Given the description of an element on the screen output the (x, y) to click on. 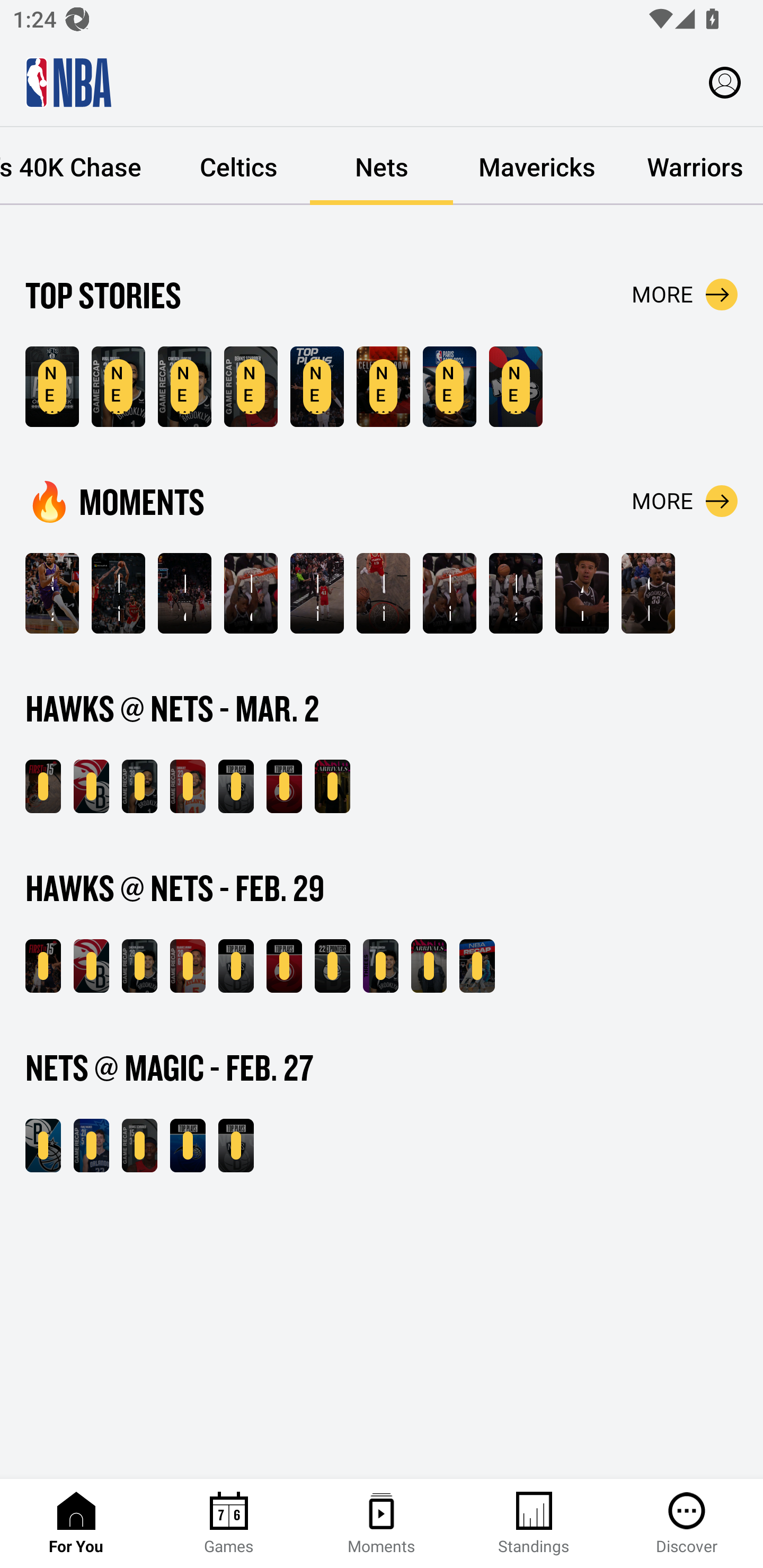
Profile (724, 81)
LeBron’s 40K Chase (83, 166)
Celtics (238, 166)
Mavericks (537, 166)
Warriors (692, 166)
MORE (684, 294)
NEW BKN's Top Plays of Week 19 (51, 386)
NEW Highlights From Mikal Bridges' 38-Point Game (117, 386)
NEW Top Plays From Paris (317, 386)
The Stars Were Out In Paris ⭐ NEW (383, 386)
Cavs And Nets Visit The Eiffel Tower 📷 NEW (449, 386)
Nets' 2023-24 City Edition Jerseys NEW (515, 386)
MORE (684, 500)
Saturday's Top Plays In 30 Seconds ⏱ (51, 593)
Dennis Schroder gets the 3 to fall (184, 593)
Dennis Schroder with the assist (250, 593)
Mikal Bridges with the hoop & harm (317, 593)
Nicolas Claxton throws it down (383, 593)
Nicolas Claxton rises to finish the alley-oop (449, 593)
Day'Ron Sharpe with the swat (515, 593)
And-1 for Cameron Johnson! (581, 593)
Claxton Rises Up For The Block ❌ (648, 593)
NEW First To 15 Mar. 2nd (43, 785)
NEW BKN 114, ATL 102 - Mar 2 (91, 785)
NEW Highlights From Mikal Bridges' 38-Point Game (139, 785)
NEW Highlights From Saddiq Bey's 23-Point Game (187, 785)
NEW BKN's Top Plays from ATL vs. BKN (236, 785)
ATL's Top Plays from ATL vs. BKN NEW (284, 785)
Saturday's Arrivals 🔥 NEW (332, 785)
NEW First To 15: Feb. 29th (43, 965)
NEW BKN 124, ATL 97 - Feb 29 (91, 965)
NEW BKN's Top Plays from ATL vs. BKN (236, 965)
ATL's Top Plays from ATL vs. BKN NEW (284, 965)
All 3's from BKN's 22 3-Pointer Night NEW (332, 965)
Thursday Night's Arrivals 🔥 NEW (428, 965)
Thursday's Recap NEW (477, 965)
NEW ORL 108, BKN 81 - Feb 27 (43, 1145)
NEW Highlights From Franz Wagner's 21-Point Game (91, 1145)
NEW ORL's Top Plays from BKN vs. ORL (187, 1145)
NEW BKN's Top Plays from BKN vs. ORL (236, 1145)
Games (228, 1523)
Moments (381, 1523)
Standings (533, 1523)
Discover (686, 1523)
